Given the description of an element on the screen output the (x, y) to click on. 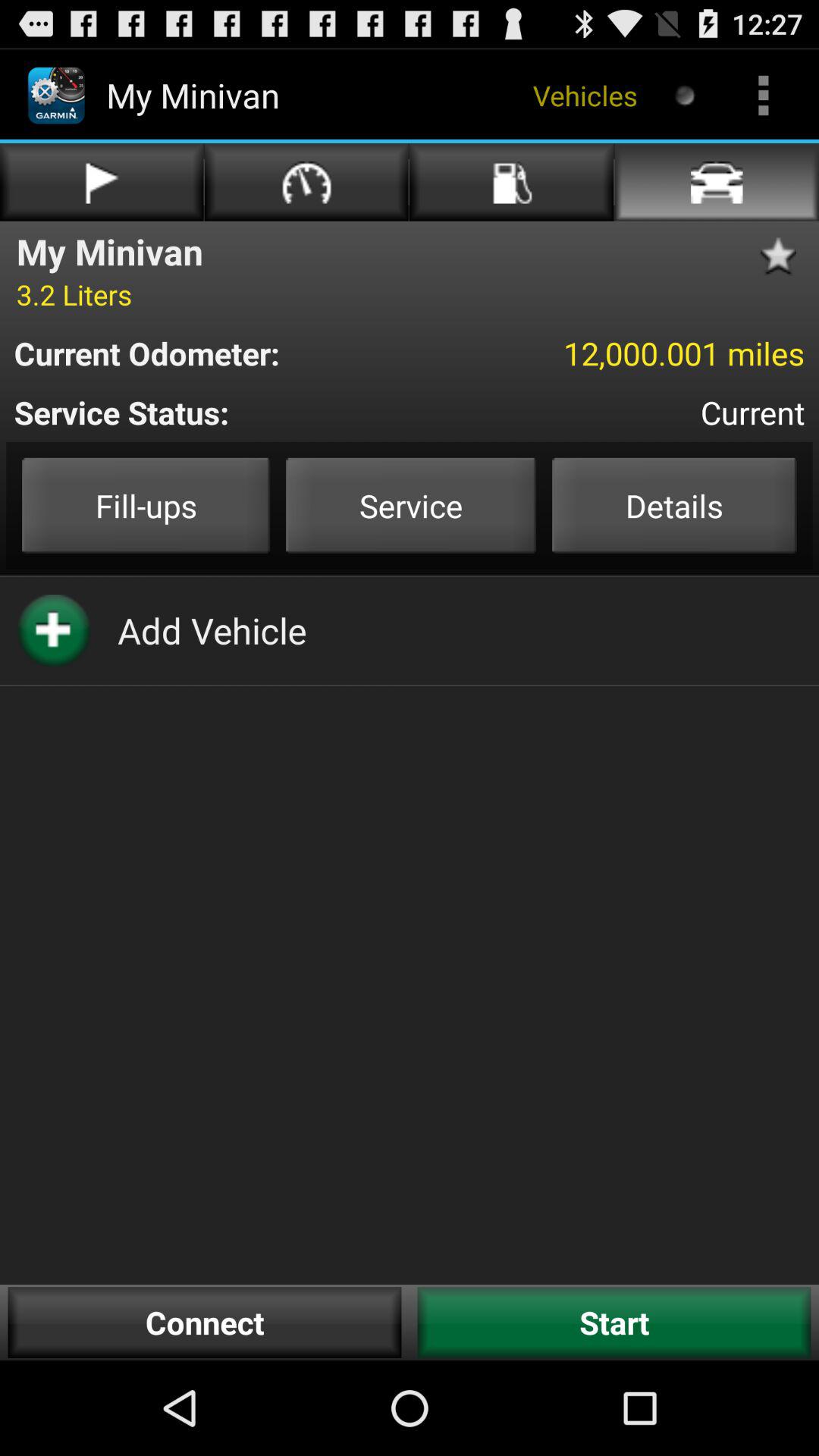
scroll to the current odometer: icon (217, 352)
